Given the description of an element on the screen output the (x, y) to click on. 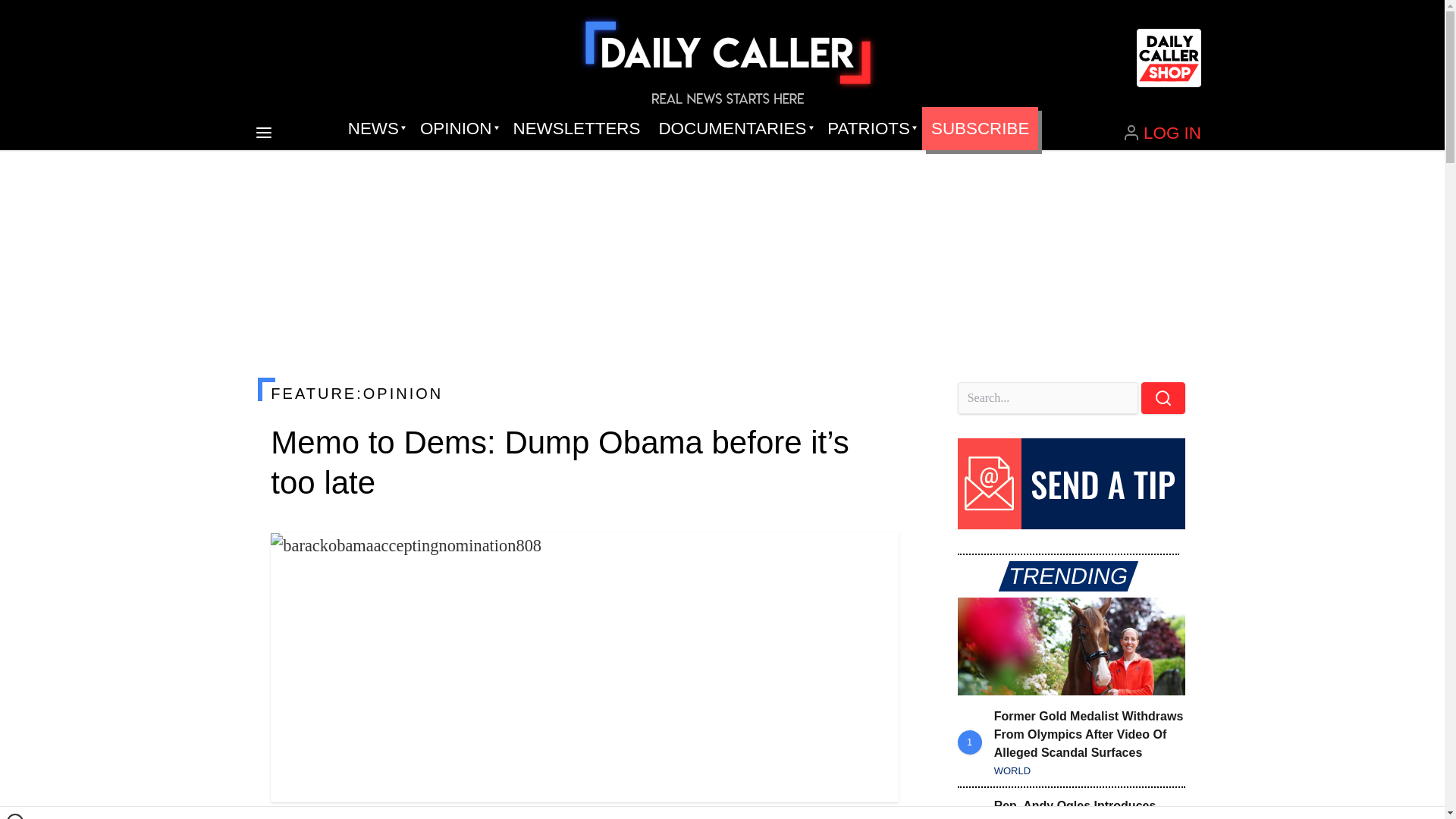
SUBSCRIBE (979, 128)
NEWSLETTERS (576, 128)
DOCUMENTARIES (733, 128)
PATRIOTS (869, 128)
NEWS (374, 128)
Close window (14, 816)
Toggle fullscreen (874, 556)
FEATURE:OPINION (584, 393)
OPINION (456, 128)
